Given the description of an element on the screen output the (x, y) to click on. 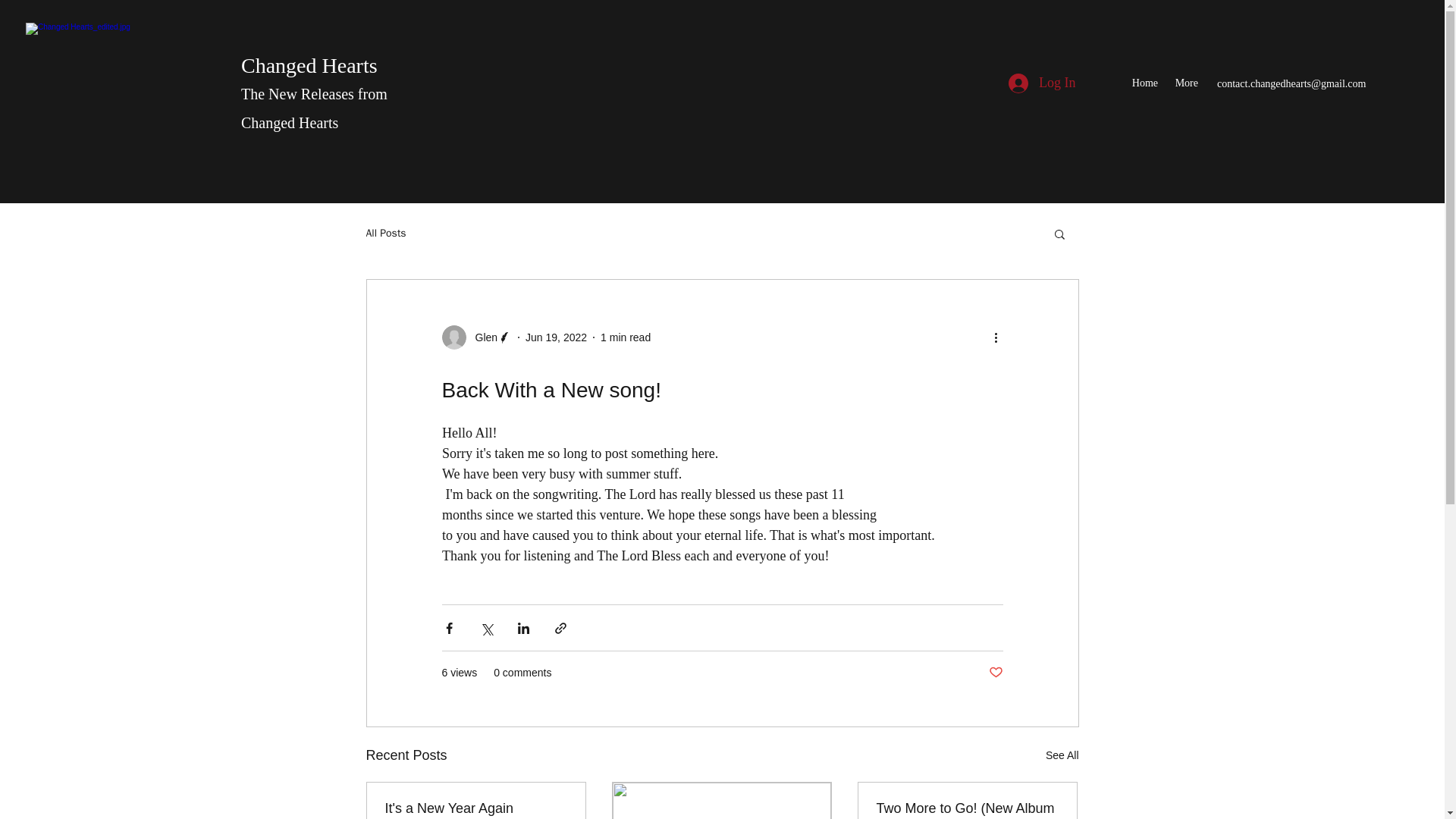
Glen (476, 337)
Log In (1041, 82)
All Posts (385, 233)
Home (1143, 83)
It's a New Year Again (476, 808)
Changed Hearts (309, 65)
Post not marked as liked (995, 672)
1 min read (624, 337)
Jun 19, 2022 (555, 337)
Glen (481, 337)
See All (1061, 755)
